Given the description of an element on the screen output the (x, y) to click on. 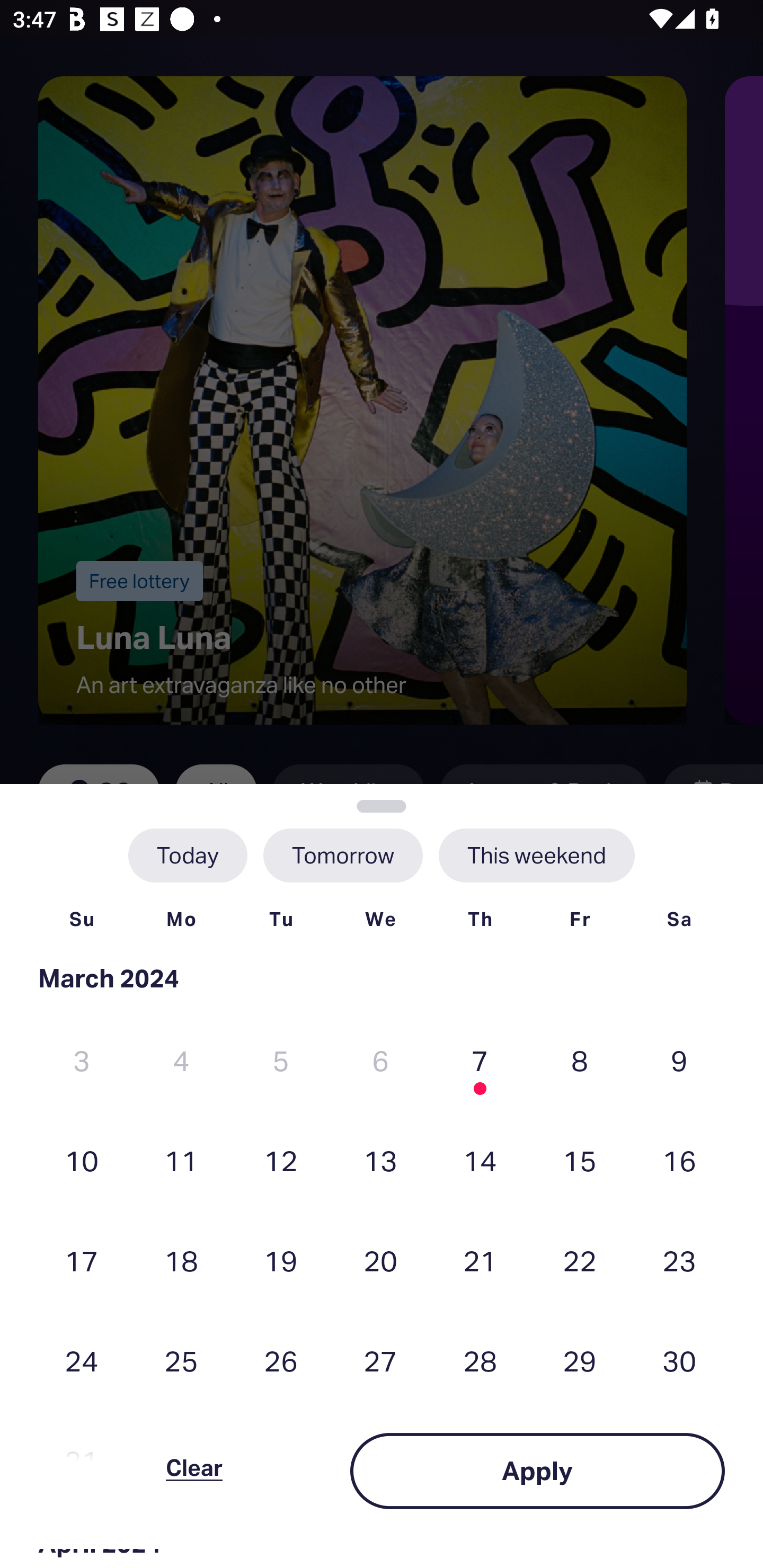
Today (187, 854)
Tomorrow (342, 854)
This weekend (536, 854)
3 (81, 1060)
4 (181, 1060)
5 (280, 1060)
6 (380, 1060)
7 (479, 1060)
8 (579, 1060)
9 (678, 1060)
10 (81, 1160)
11 (181, 1160)
12 (280, 1160)
13 (380, 1160)
14 (479, 1160)
15 (579, 1160)
16 (678, 1160)
17 (81, 1260)
18 (181, 1260)
19 (280, 1260)
20 (380, 1260)
21 (479, 1260)
22 (579, 1260)
23 (678, 1260)
24 (81, 1360)
25 (181, 1360)
26 (280, 1360)
27 (380, 1360)
28 (479, 1360)
29 (579, 1360)
30 (678, 1360)
Clear (194, 1470)
Apply (537, 1470)
